Given the description of an element on the screen output the (x, y) to click on. 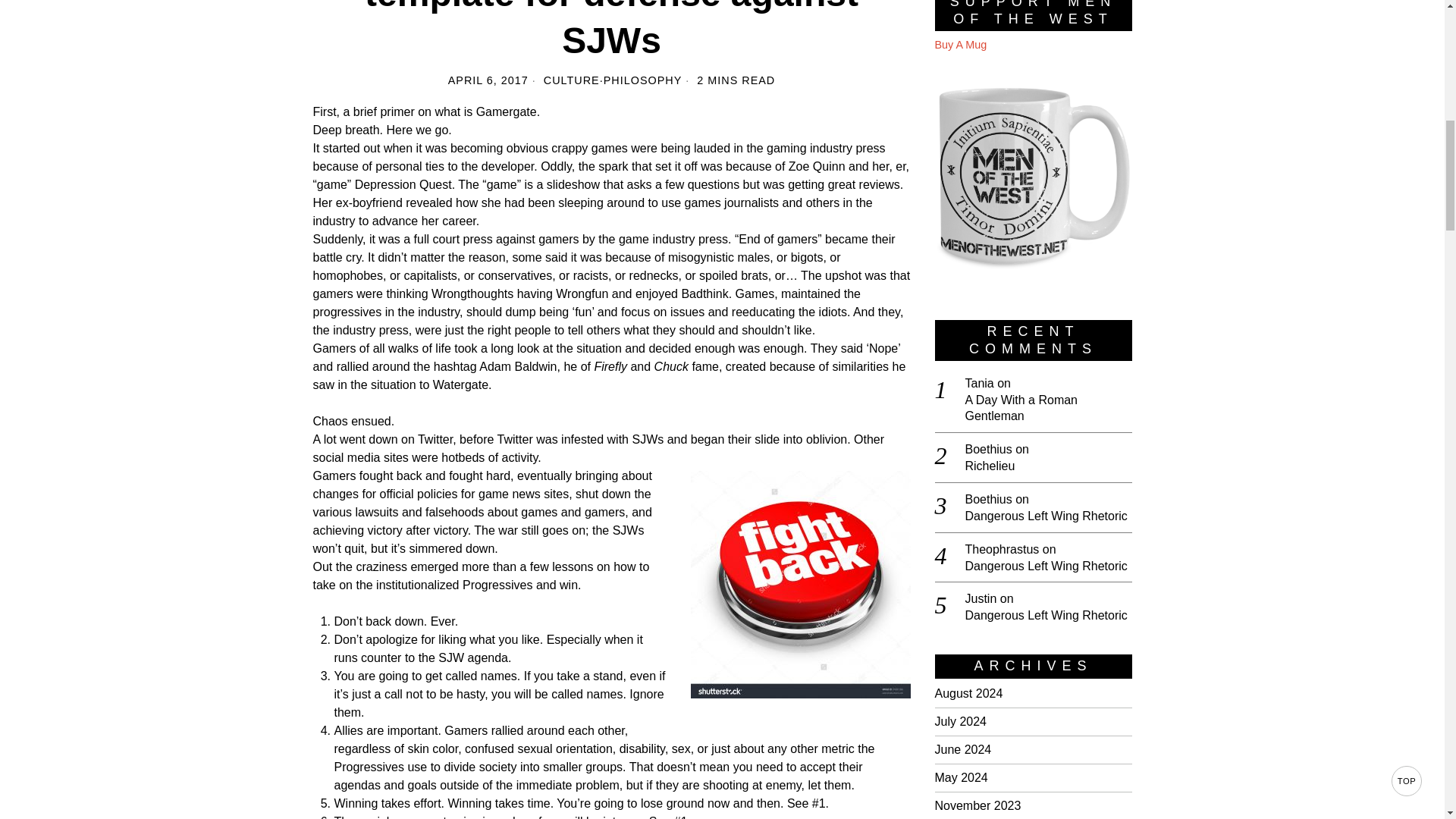
CULTURE (571, 79)
06 Apr, 2017 10:38:03 (488, 79)
PHILOSOPHY (643, 79)
